Given the description of an element on the screen output the (x, y) to click on. 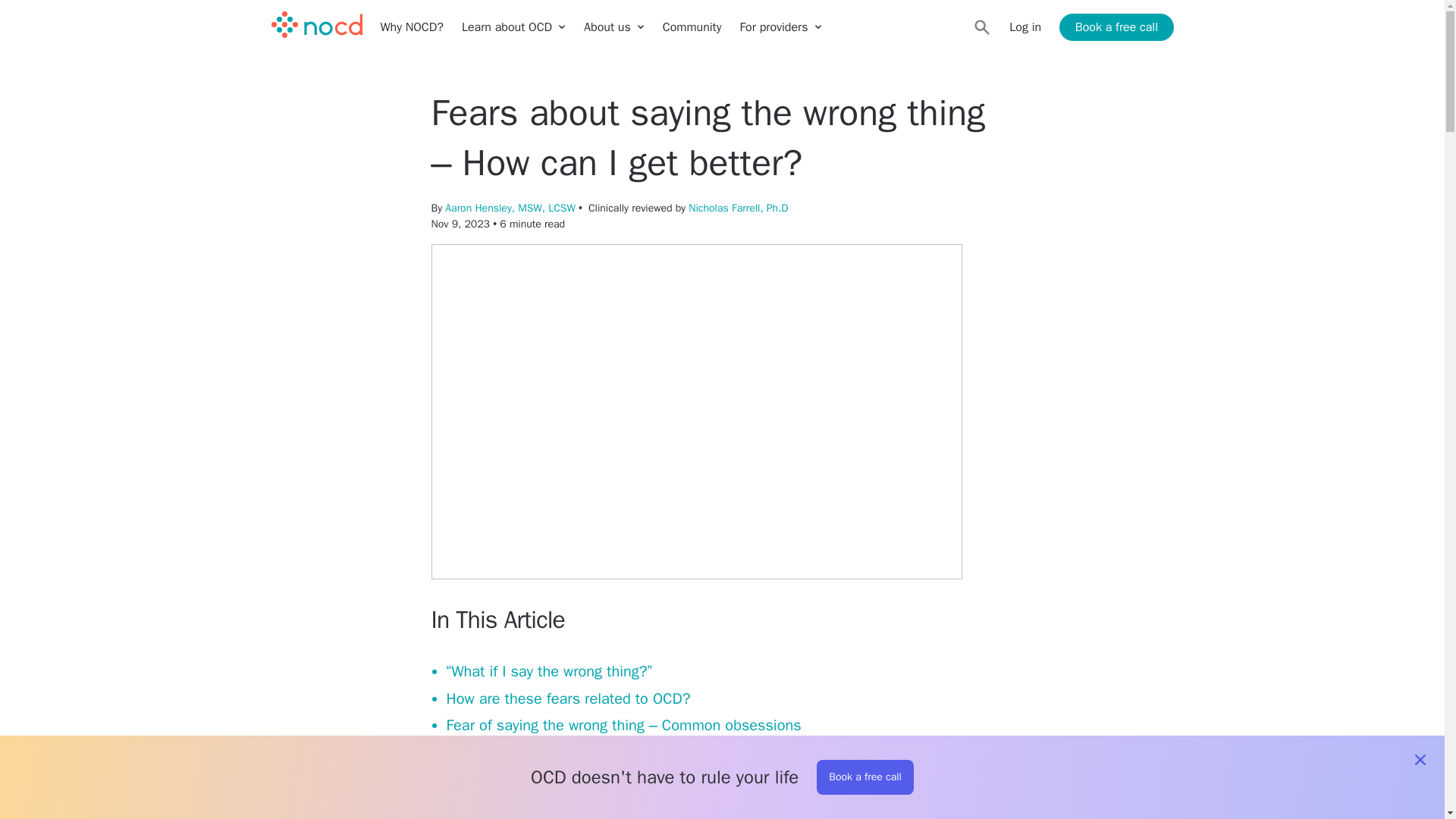
Aaron Hensley, MSW, LCSW (510, 207)
About us (614, 27)
Obsessions related to saying the wrong thing: (596, 752)
Log in (1025, 27)
Common triggers (502, 779)
Learn about OCD (513, 27)
Community (692, 27)
Why NOCD? (412, 27)
How are these fears related to OCD? (567, 699)
Triggers for fears about saying the wrong thing: (601, 806)
Nicholas Farrell, Ph.D (737, 207)
Book a free call (1116, 26)
For providers (780, 27)
